Given the description of an element on the screen output the (x, y) to click on. 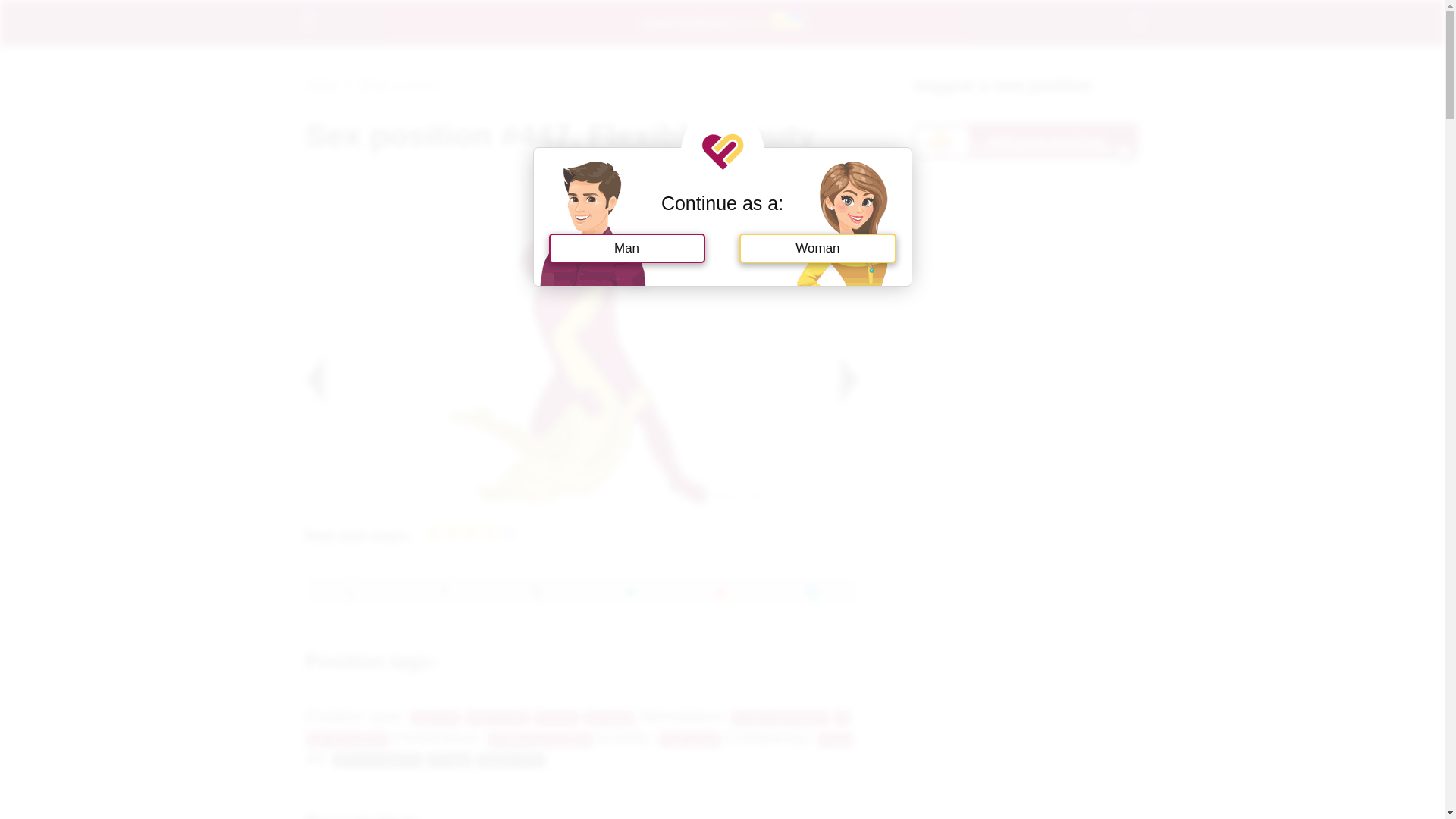
standing (608, 718)
All sex positions (400, 83)
crazy (833, 739)
Home (320, 83)
All sex positions (377, 759)
G-spot stimulation (576, 728)
All tags (448, 759)
man on top (496, 718)
man active (690, 739)
shallow penetration (539, 739)
anal sex (435, 718)
A-spot stimulation (779, 718)
reverse (556, 718)
Randomizer (510, 759)
